Given the description of an element on the screen output the (x, y) to click on. 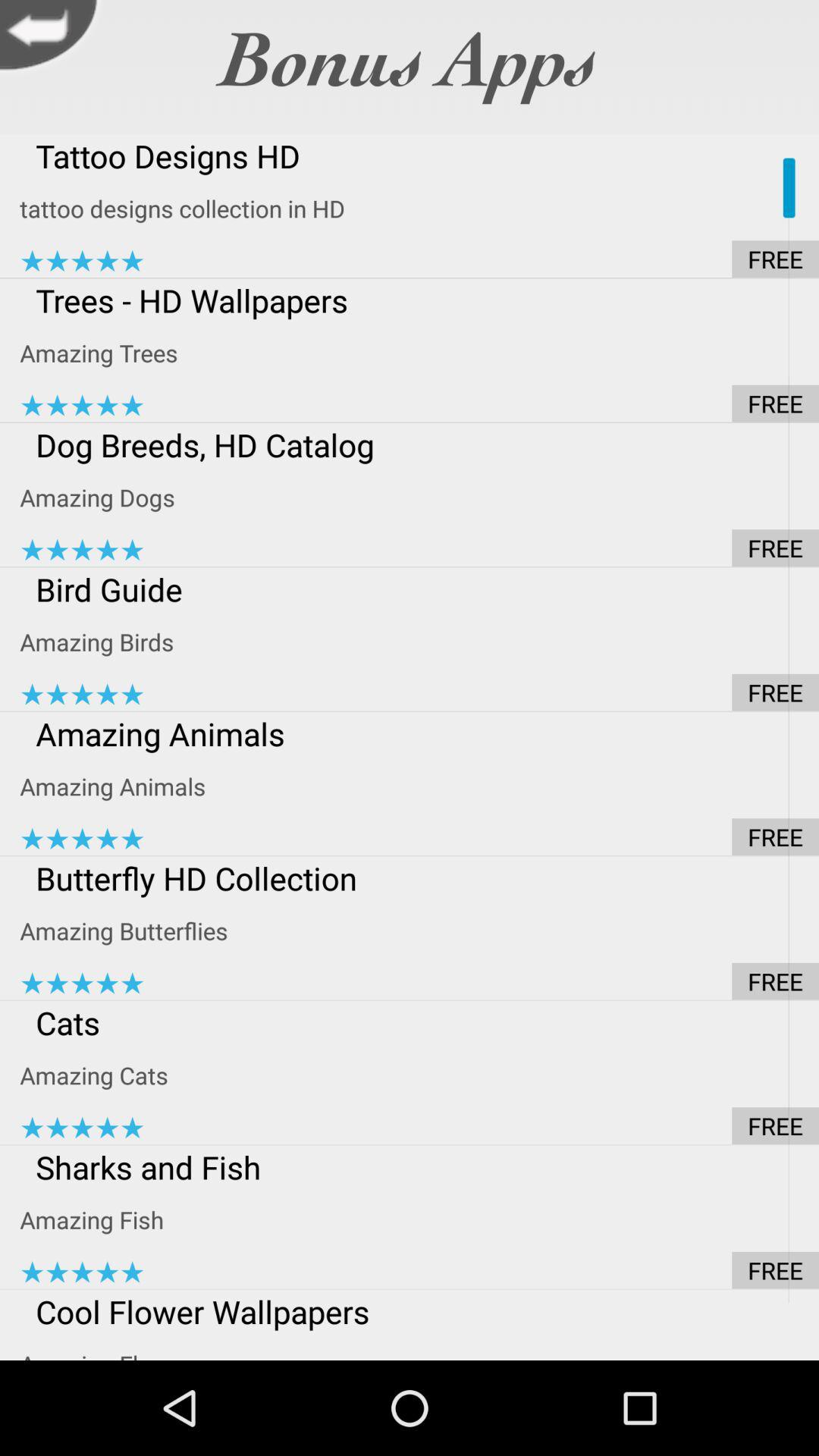
turn on the amazing flowers  icon (419, 1346)
